Given the description of an element on the screen output the (x, y) to click on. 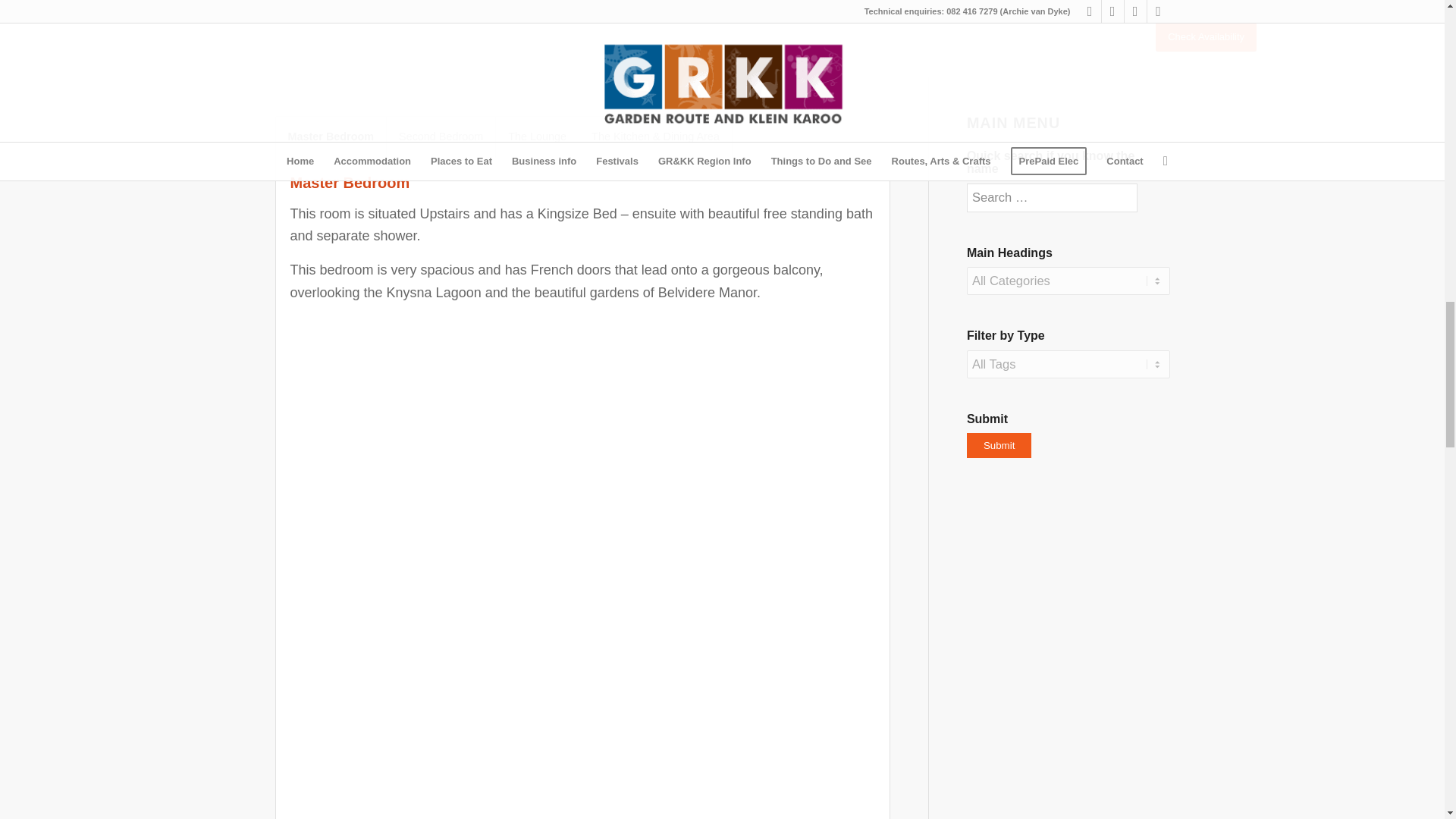
Submit (998, 445)
Exquisite Cottage20 Master Bed (531, 759)
